Given the description of an element on the screen output the (x, y) to click on. 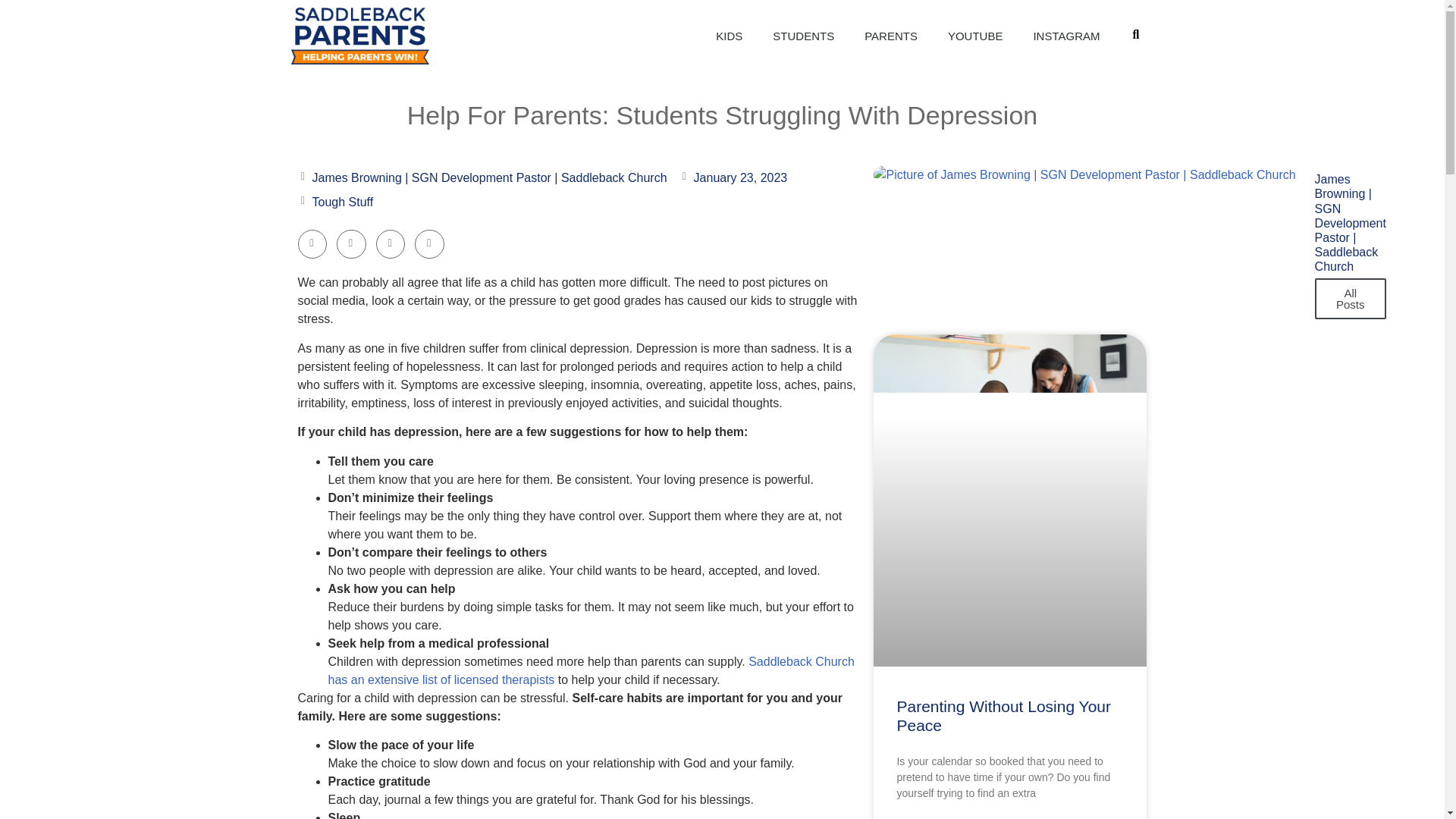
KIDS (728, 36)
Tough Stuff (343, 201)
January 23, 2023 (733, 178)
STUDENTS (802, 36)
PARENTS (890, 36)
YOUTUBE (975, 36)
Parenting Without Losing Your Peace (1003, 715)
All Posts (1350, 298)
INSTAGRAM (1066, 36)
